Given the description of an element on the screen output the (x, y) to click on. 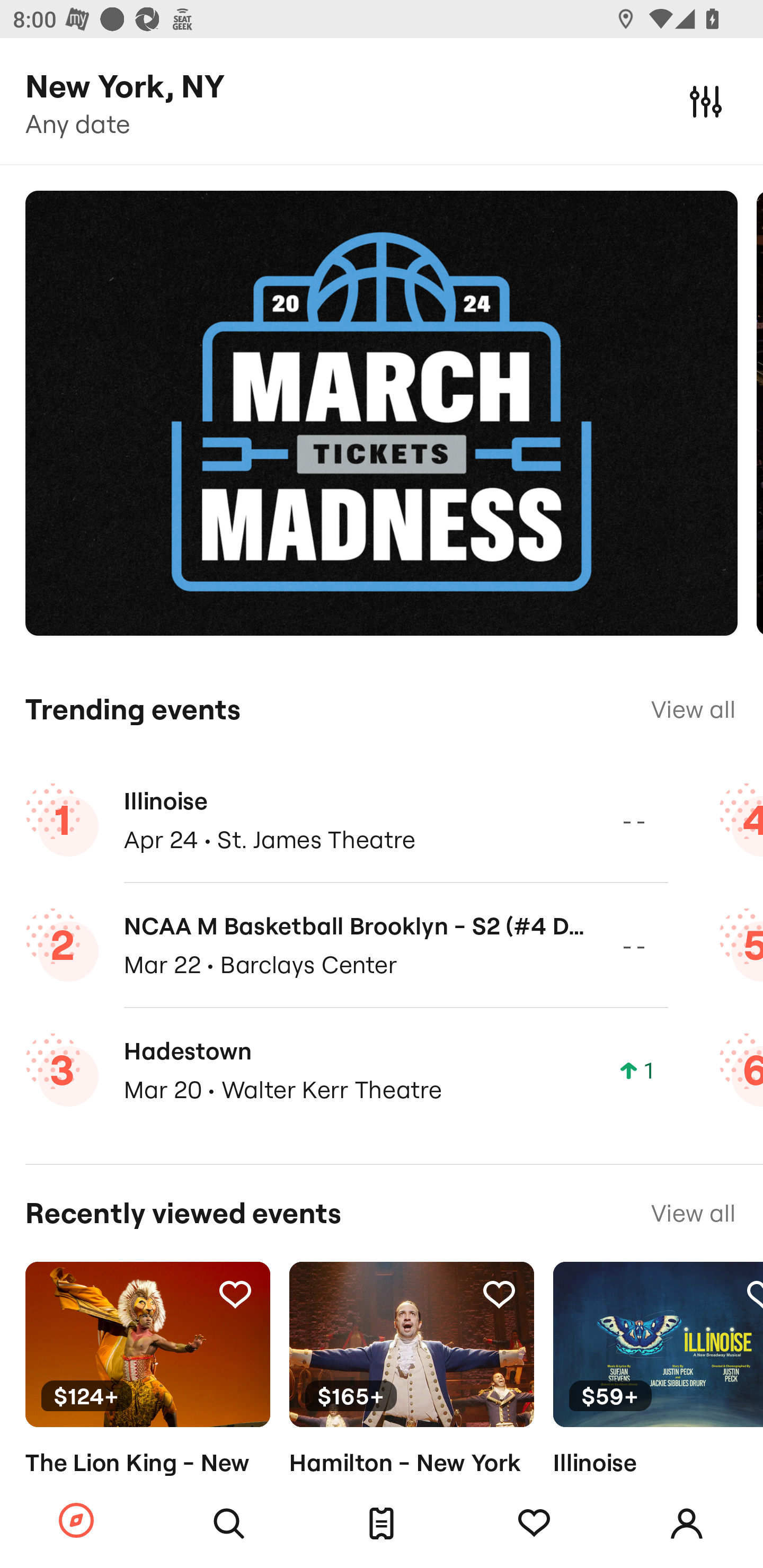
Filters (705, 100)
View all (693, 709)
View all (693, 1213)
Tracking $165+ Hamilton - New York Tomorrow · 7 PM (411, 1399)
Tracking $59+ Illinoise Wed, Apr 24, 8 PM (658, 1399)
Tracking (234, 1293)
Tracking (498, 1293)
Browse (76, 1521)
Search (228, 1523)
Tickets (381, 1523)
Tracking (533, 1523)
Account (686, 1523)
